Given the description of an element on the screen output the (x, y) to click on. 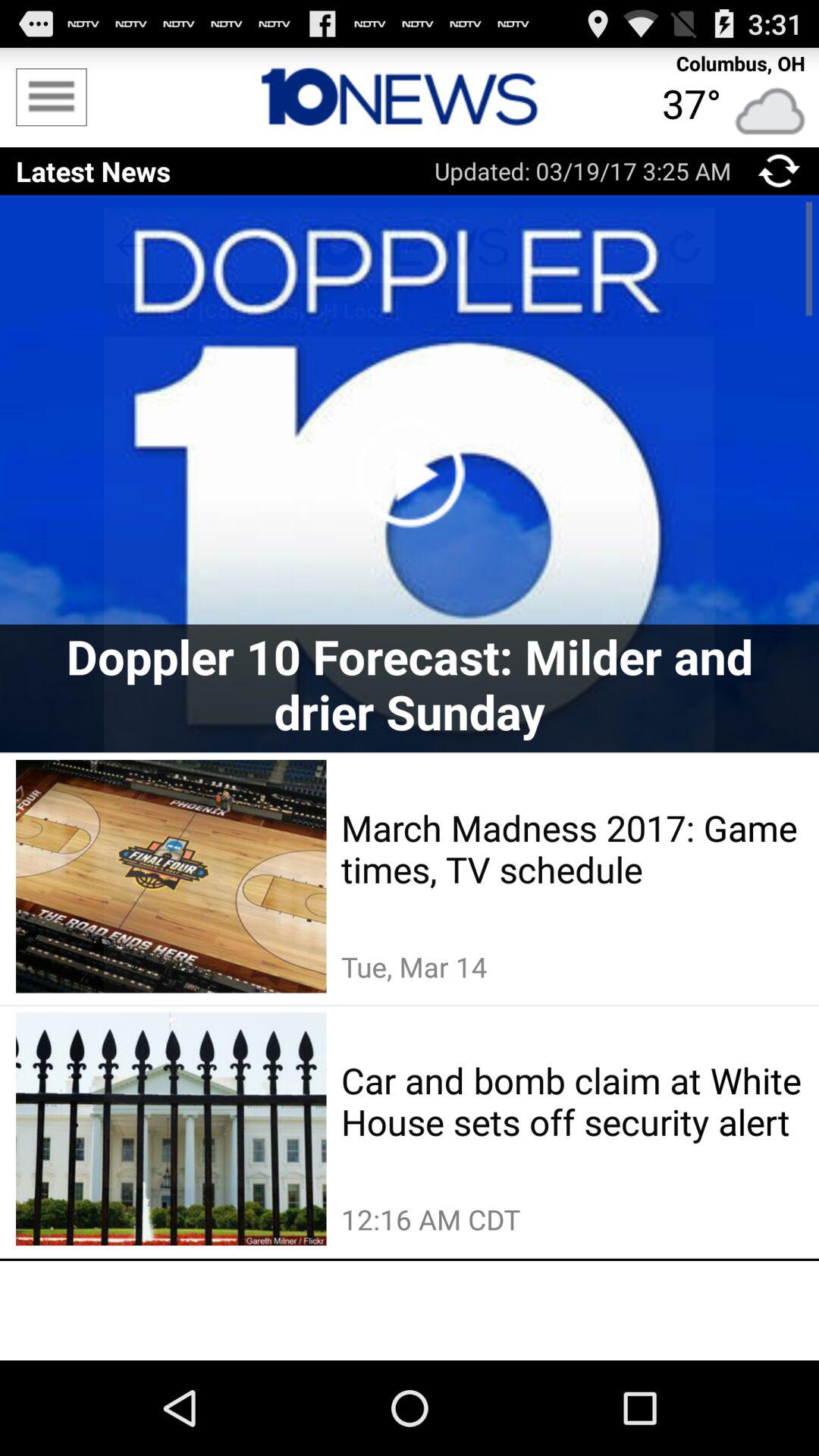
turn off the item above the tue, mar 14 icon (572, 848)
